Given the description of an element on the screen output the (x, y) to click on. 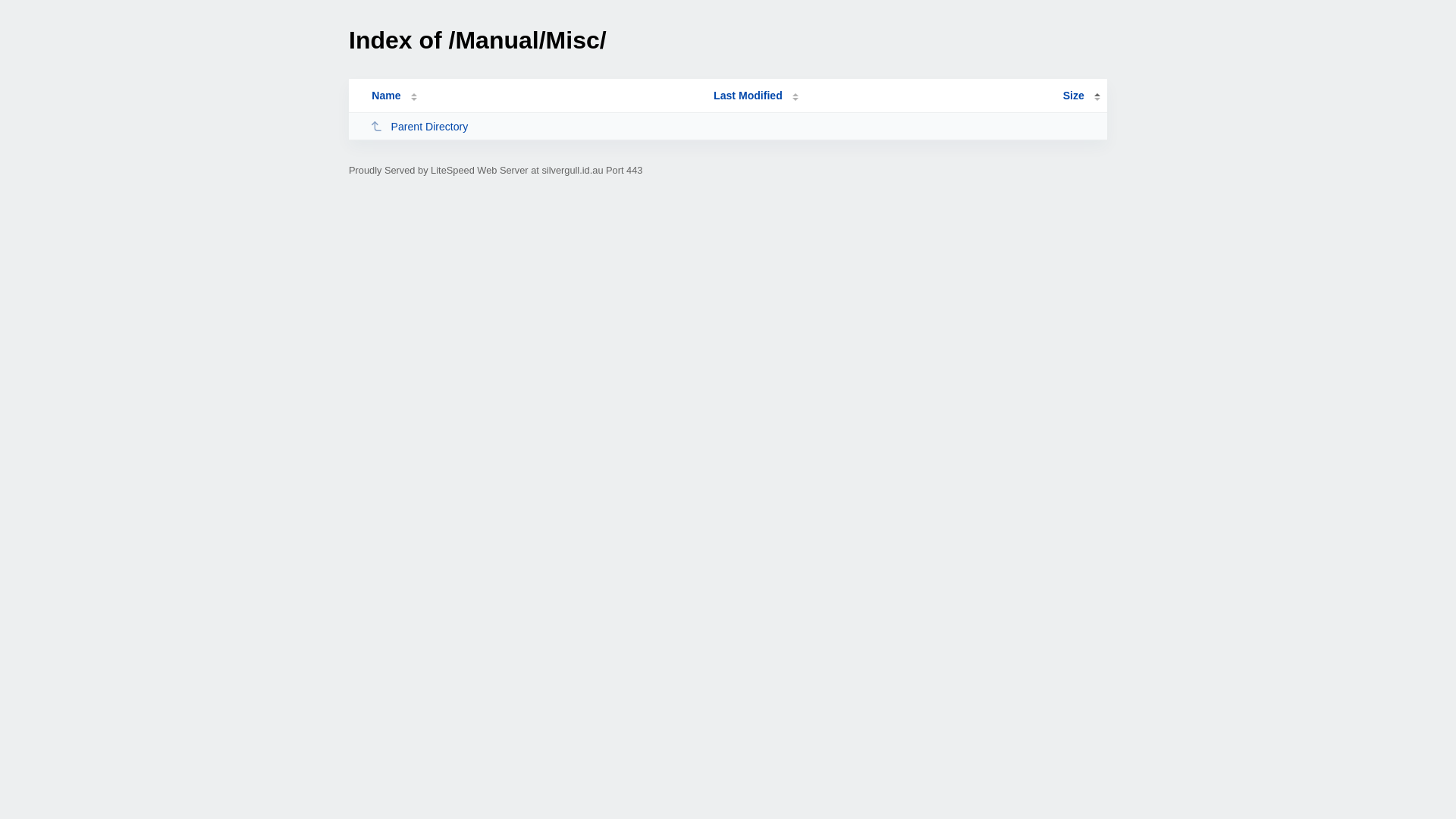
Parent Directory Element type: text (534, 125)
Last Modified Element type: text (755, 95)
Size Element type: text (1081, 95)
Name Element type: text (385, 95)
